Given the description of an element on the screen output the (x, y) to click on. 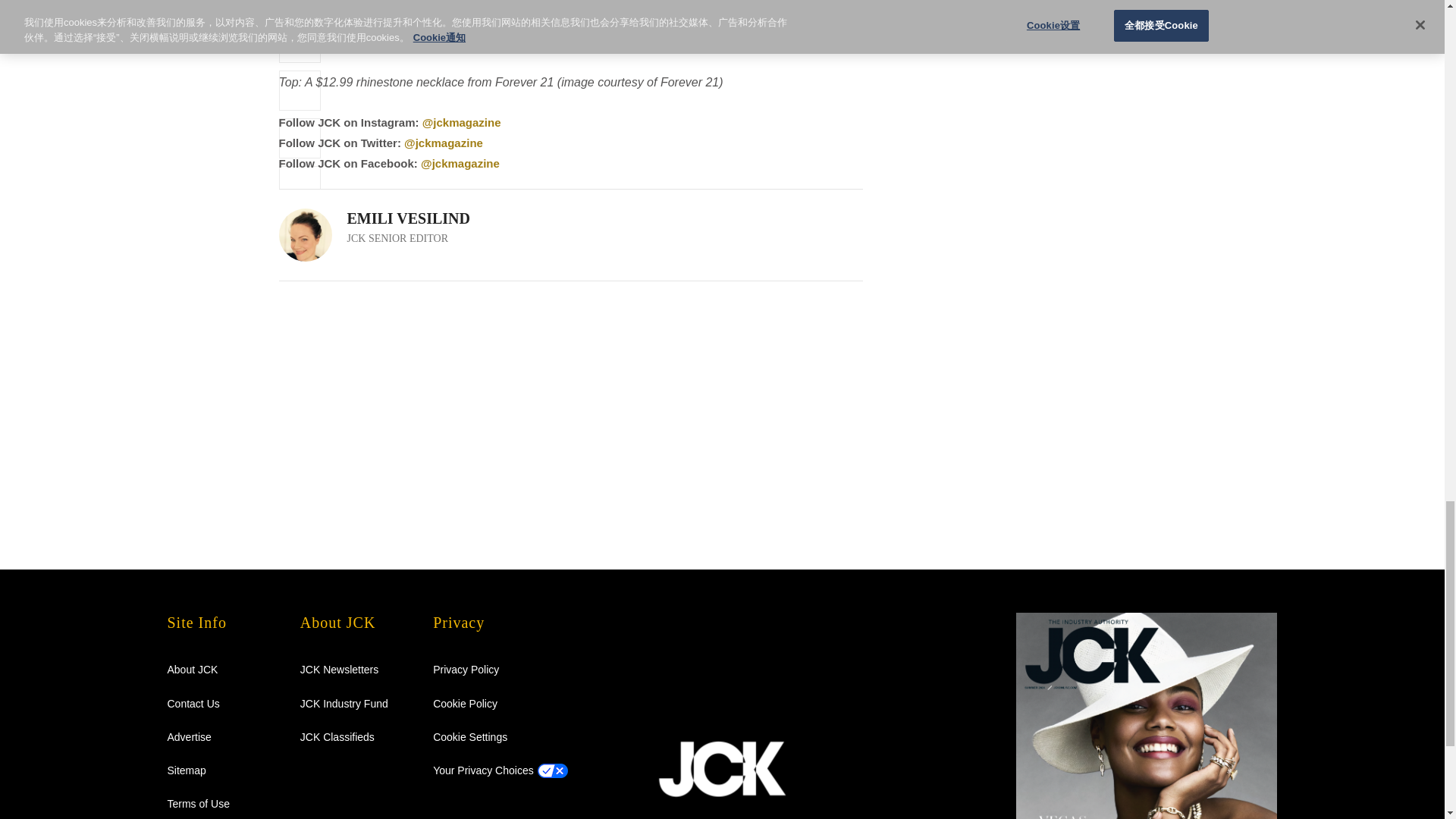
3rd party ad content (1037, 75)
privacy-choices (483, 770)
